Given the description of an element on the screen output the (x, y) to click on. 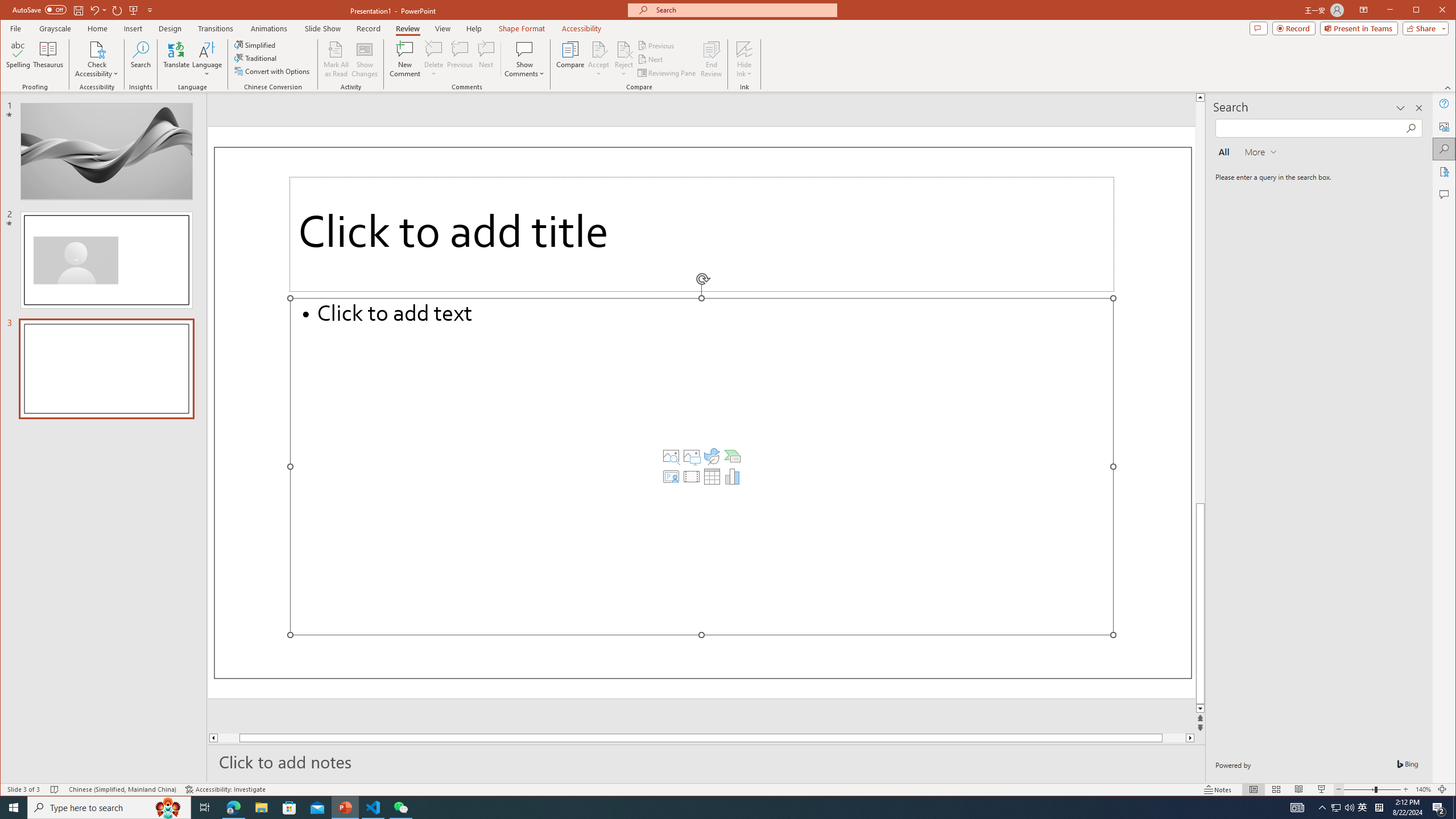
Delete (433, 48)
Page up (1200, 302)
Task View (204, 807)
Page down (1162, 737)
Notification Chevron (1322, 807)
Search (140, 59)
Thesaurus... (48, 59)
Q2790: 100% (1349, 807)
Visual Studio Code - 1 running window (373, 807)
Search highlights icon opens search home window (167, 807)
PowerPoint - 1 running window (345, 807)
Pictures (691, 456)
Tray Input Indicator - Chinese (Simplified, China) (1378, 807)
